Given the description of an element on the screen output the (x, y) to click on. 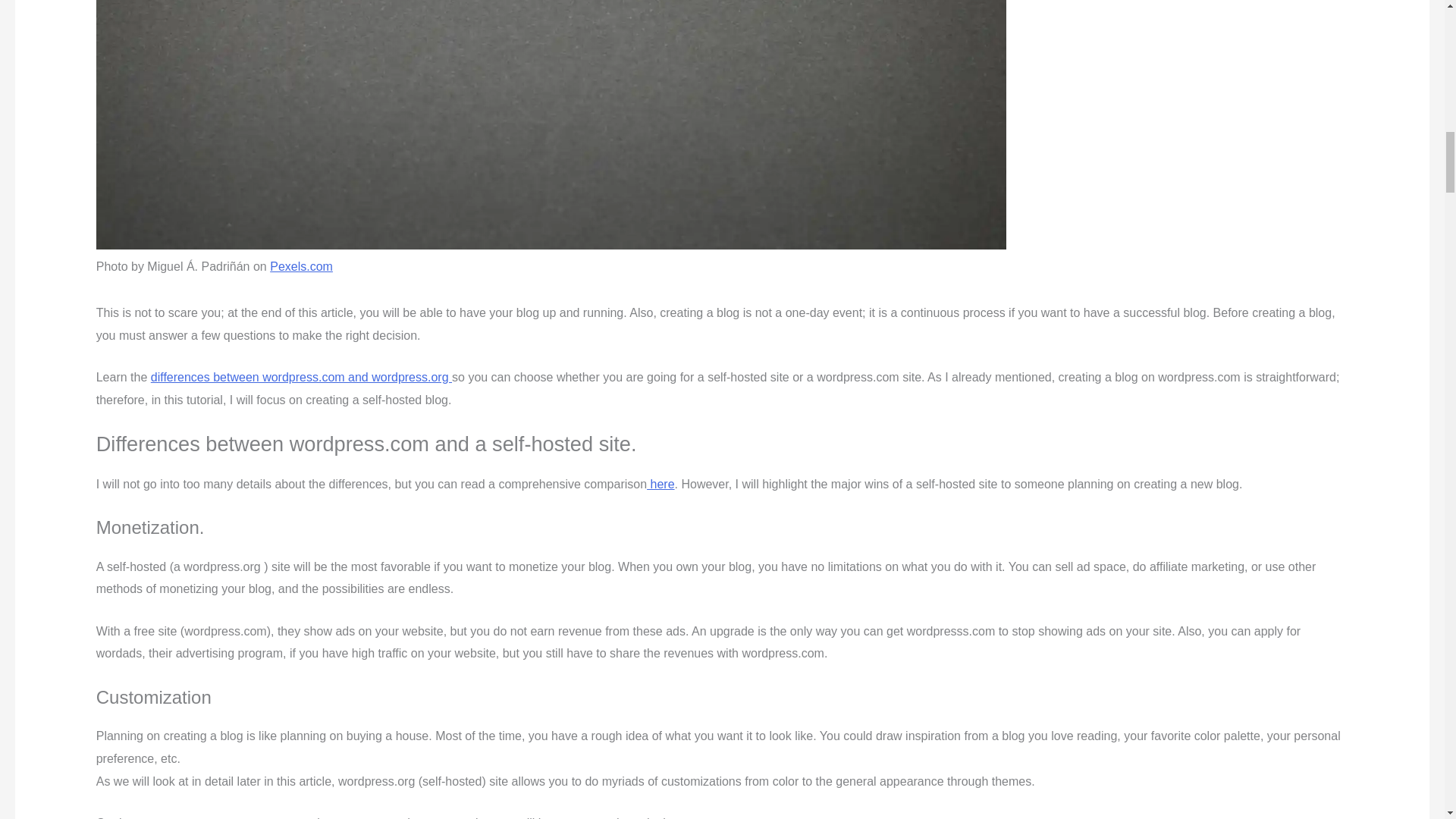
differences between wordpress.com and wordpress.org (301, 377)
here (660, 483)
Pexels.com (301, 266)
